Given the description of an element on the screen output the (x, y) to click on. 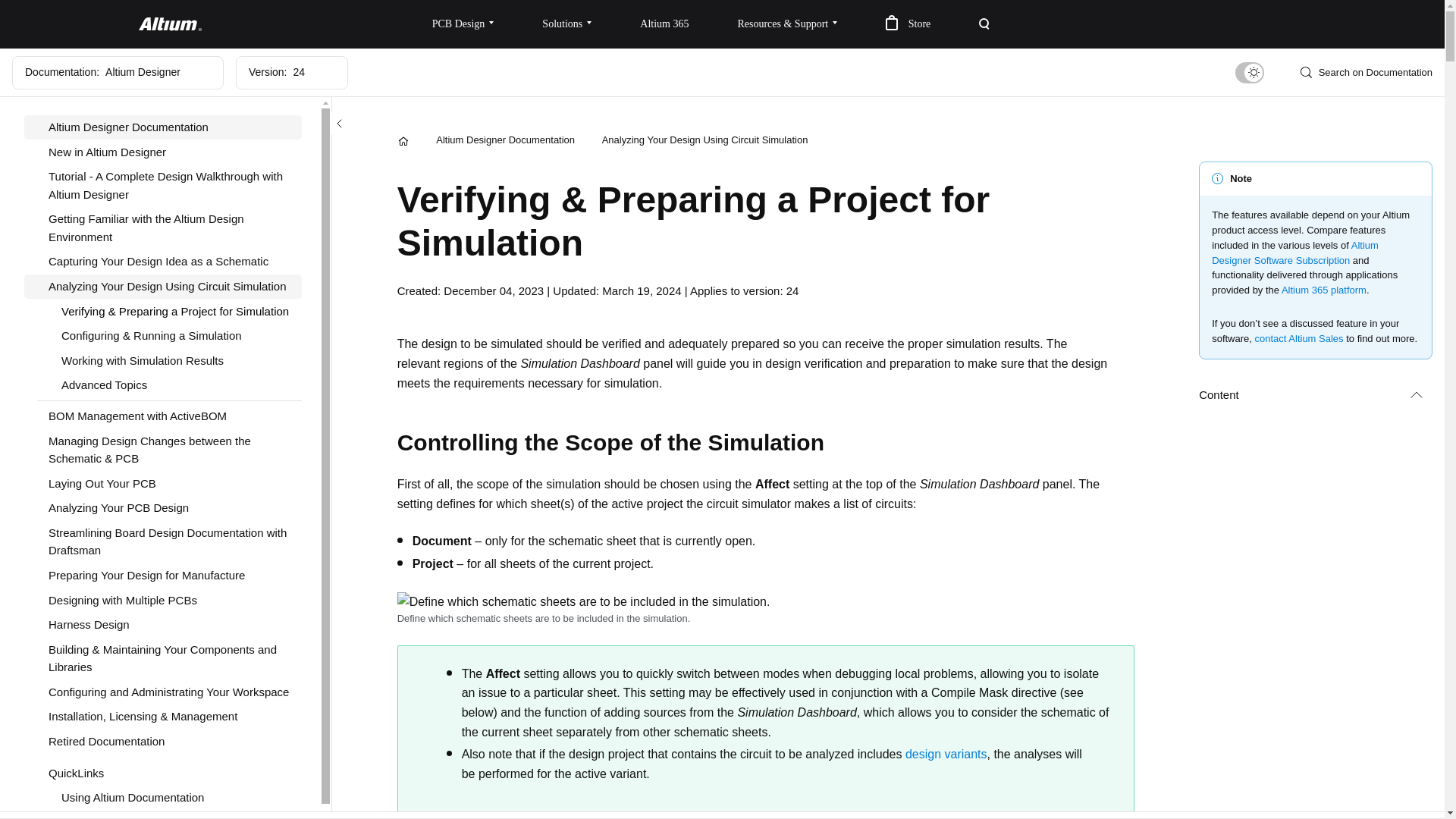
Solutions (566, 24)
Search Open (984, 24)
Store (908, 24)
PCB Design (462, 24)
Altium 365 (664, 24)
